Given the description of an element on the screen output the (x, y) to click on. 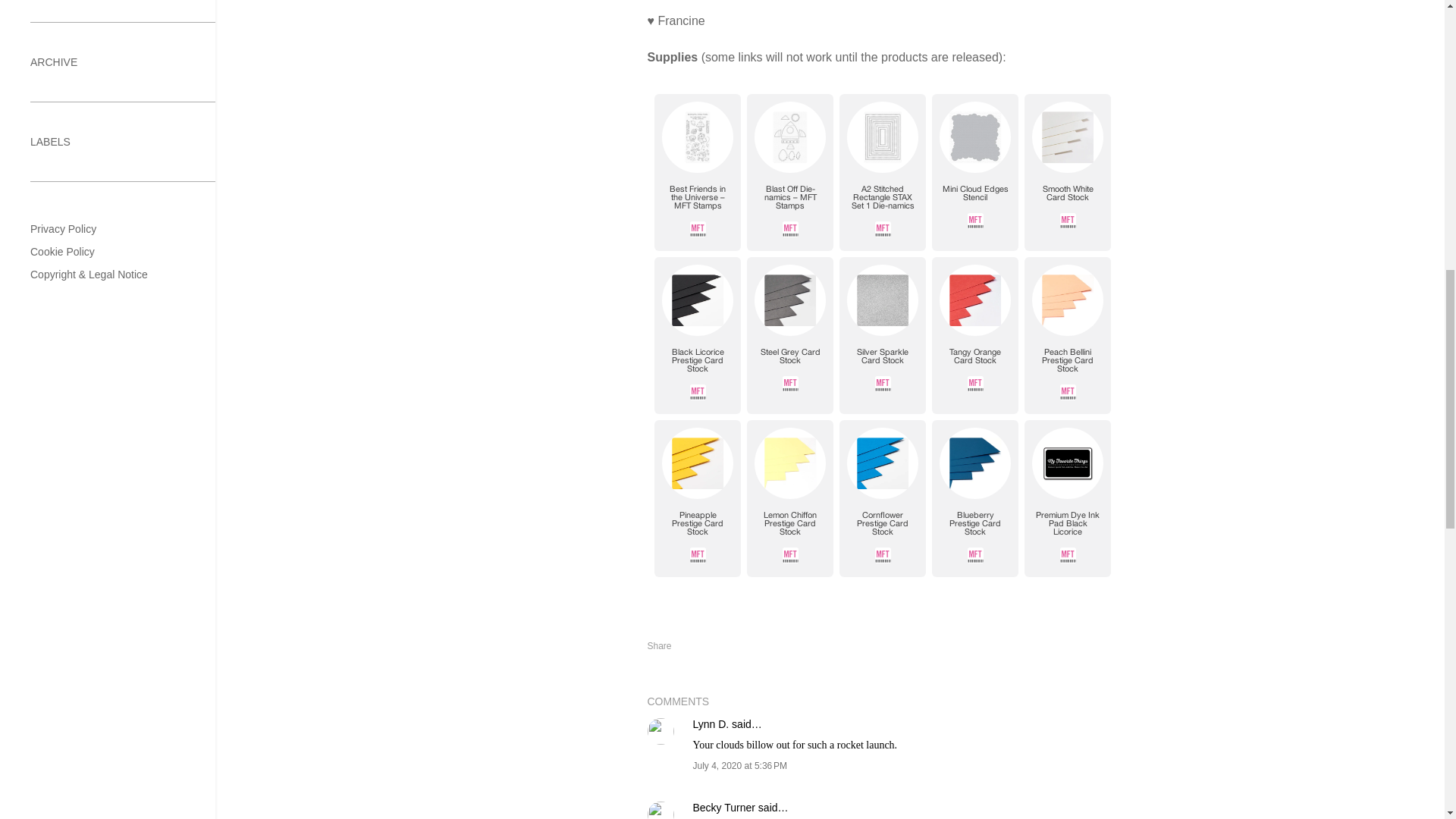
Lynn D. (711, 724)
Becky Turner (724, 807)
comment permalink (740, 765)
Share (659, 645)
